Given the description of an element on the screen output the (x, y) to click on. 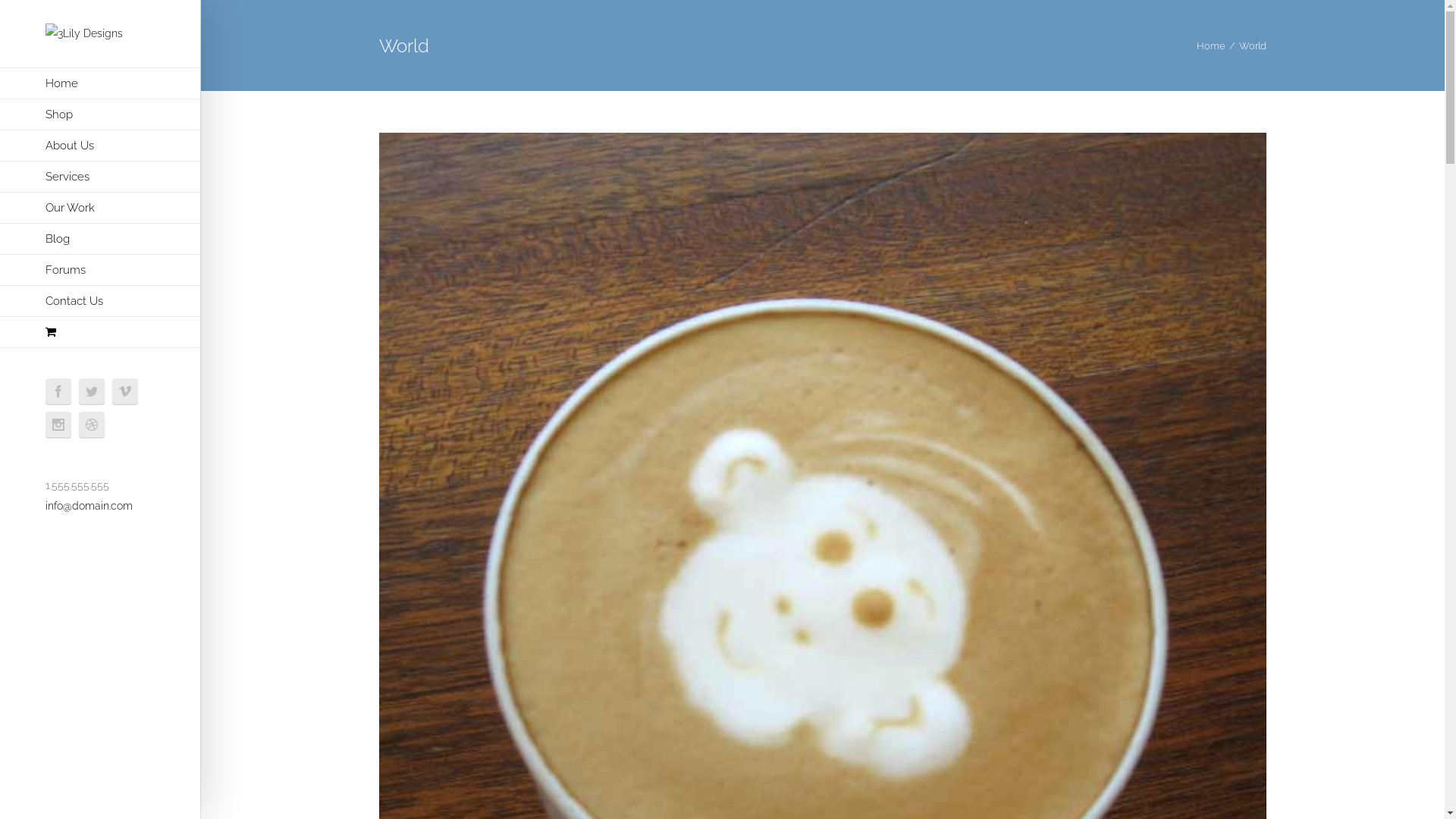
Our Work Element type: text (100, 207)
Blog Element type: text (100, 238)
Contact Us Element type: text (100, 300)
info@domain.com Element type: text (88, 505)
Shop Element type: text (100, 114)
Home Element type: text (1210, 44)
Forums Element type: text (100, 269)
About Us Element type: text (100, 145)
Services Element type: text (100, 176)
Home Element type: text (100, 83)
